Given the description of an element on the screen output the (x, y) to click on. 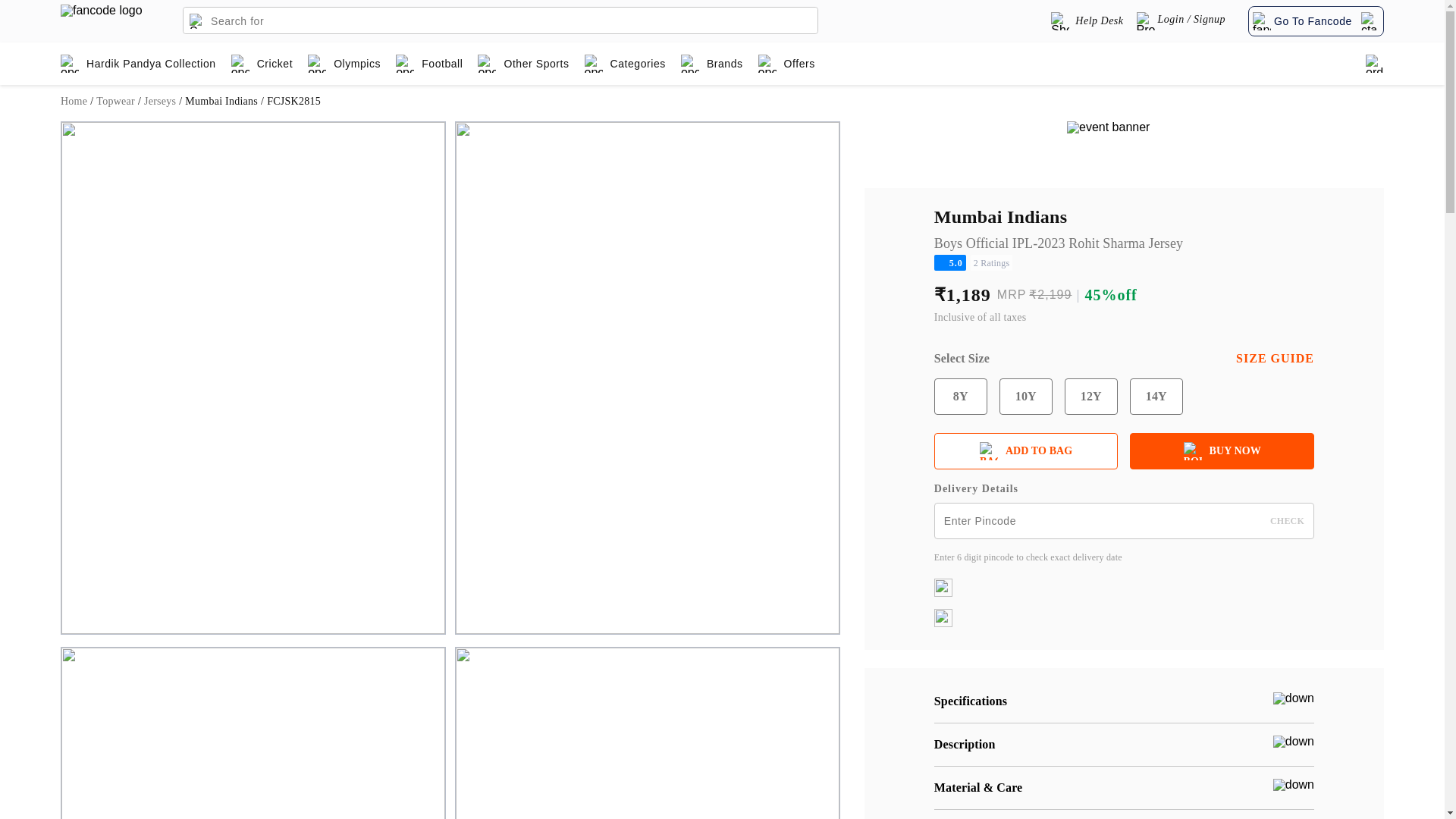
Help Desk (1086, 21)
Go To Fancode (1314, 20)
Specifications (1124, 701)
Description (1124, 744)
